Given the description of an element on the screen output the (x, y) to click on. 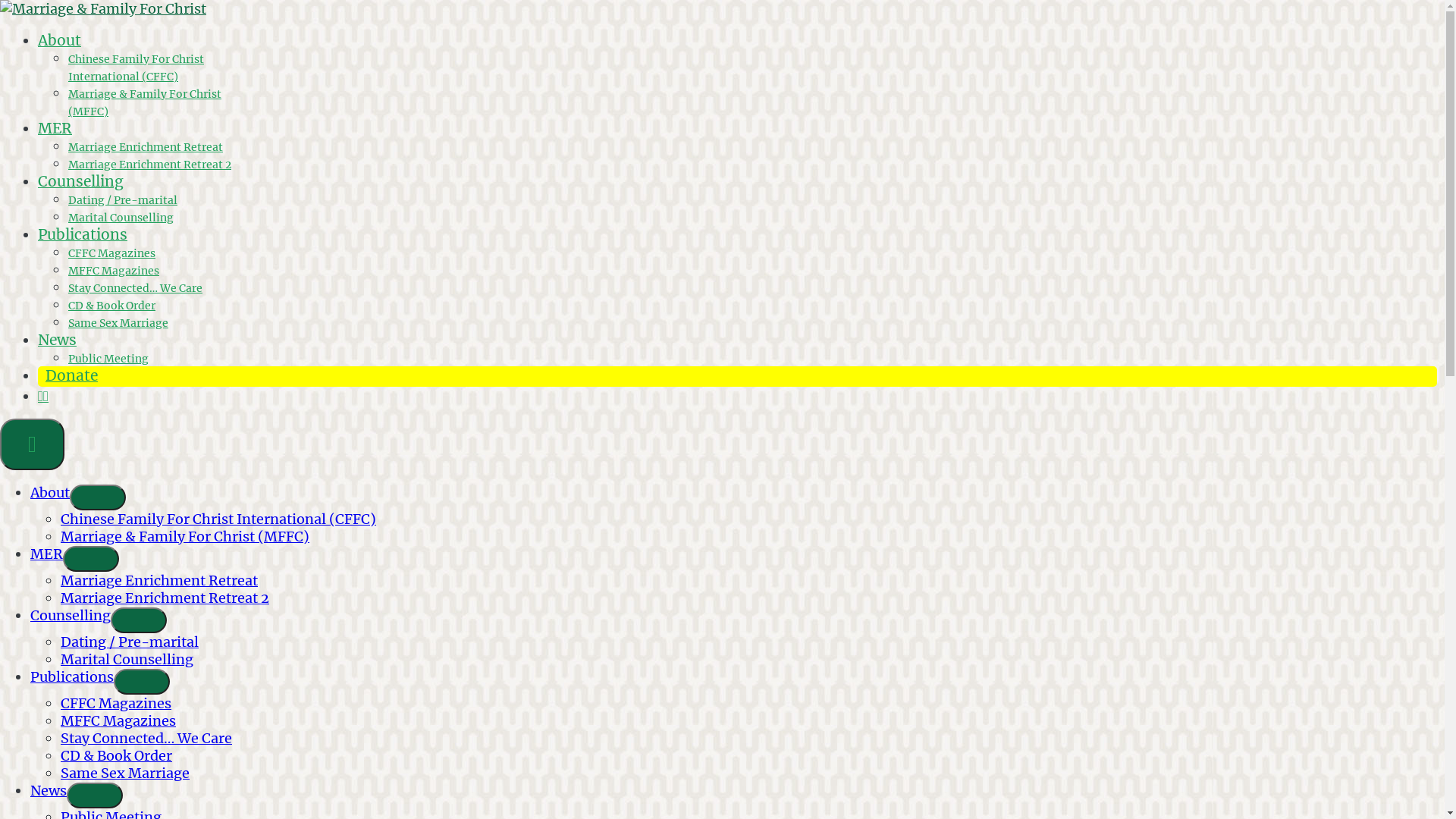
Donate Element type: text (71, 375)
CD & Book Order Element type: text (116, 755)
MFFC Magazines Element type: text (113, 270)
Marriage Enrichment Retreat Element type: text (158, 580)
CFFC Magazines Element type: text (111, 253)
CFFC Magazines Element type: text (115, 703)
About Element type: text (49, 492)
MER Element type: text (54, 128)
Chinese Family For Christ International (CFFC) Element type: text (218, 518)
Counselling Element type: text (80, 181)
Publications Element type: text (71, 676)
Dating / Pre-marital Element type: text (129, 641)
Marriage & Family For Christ (MFFC) Element type: text (144, 102)
News Element type: text (56, 339)
About Element type: text (59, 40)
Marriage Enrichment Retreat Element type: text (145, 146)
Marriage Enrichment Retreat 2 Element type: text (149, 164)
Dating / Pre-marital Element type: text (122, 200)
Marital Counselling Element type: text (126, 659)
Same Sex Marriage Element type: text (118, 322)
Chinese Family For Christ International (CFFC) Element type: text (135, 67)
Public Meeting Element type: text (108, 358)
Marital Counselling Element type: text (120, 217)
Marriage & Family For Christ Element type: text (97, 39)
Same Sex Marriage Element type: text (124, 772)
Marriage & Family For Christ (MFFC) Element type: text (184, 536)
Marriage Enrichment Retreat 2 Element type: text (164, 597)
CD & Book Order Element type: text (111, 305)
MFFC Magazines Element type: text (117, 720)
News Element type: text (48, 790)
Counselling Element type: text (70, 615)
MER Element type: text (46, 553)
Publications Element type: text (82, 234)
